Given the description of an element on the screen output the (x, y) to click on. 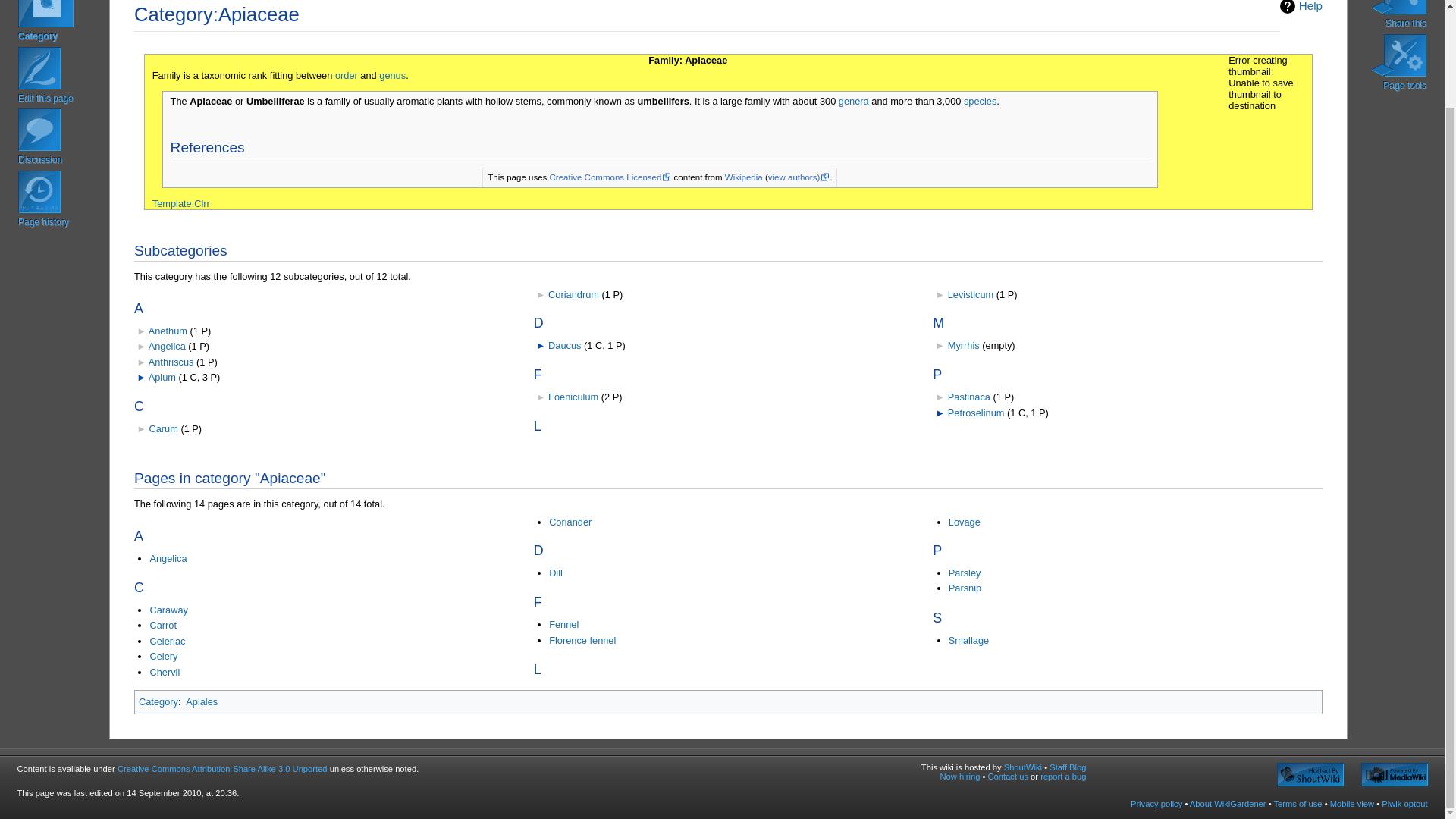
Anthriscus (170, 361)
Help (1300, 6)
Creative Commons Licensed (610, 176)
Category (60, 22)
Template:Clrr (180, 203)
genera (853, 101)
order (346, 75)
Wikipedia (743, 176)
Discussion (60, 138)
